Given the description of an element on the screen output the (x, y) to click on. 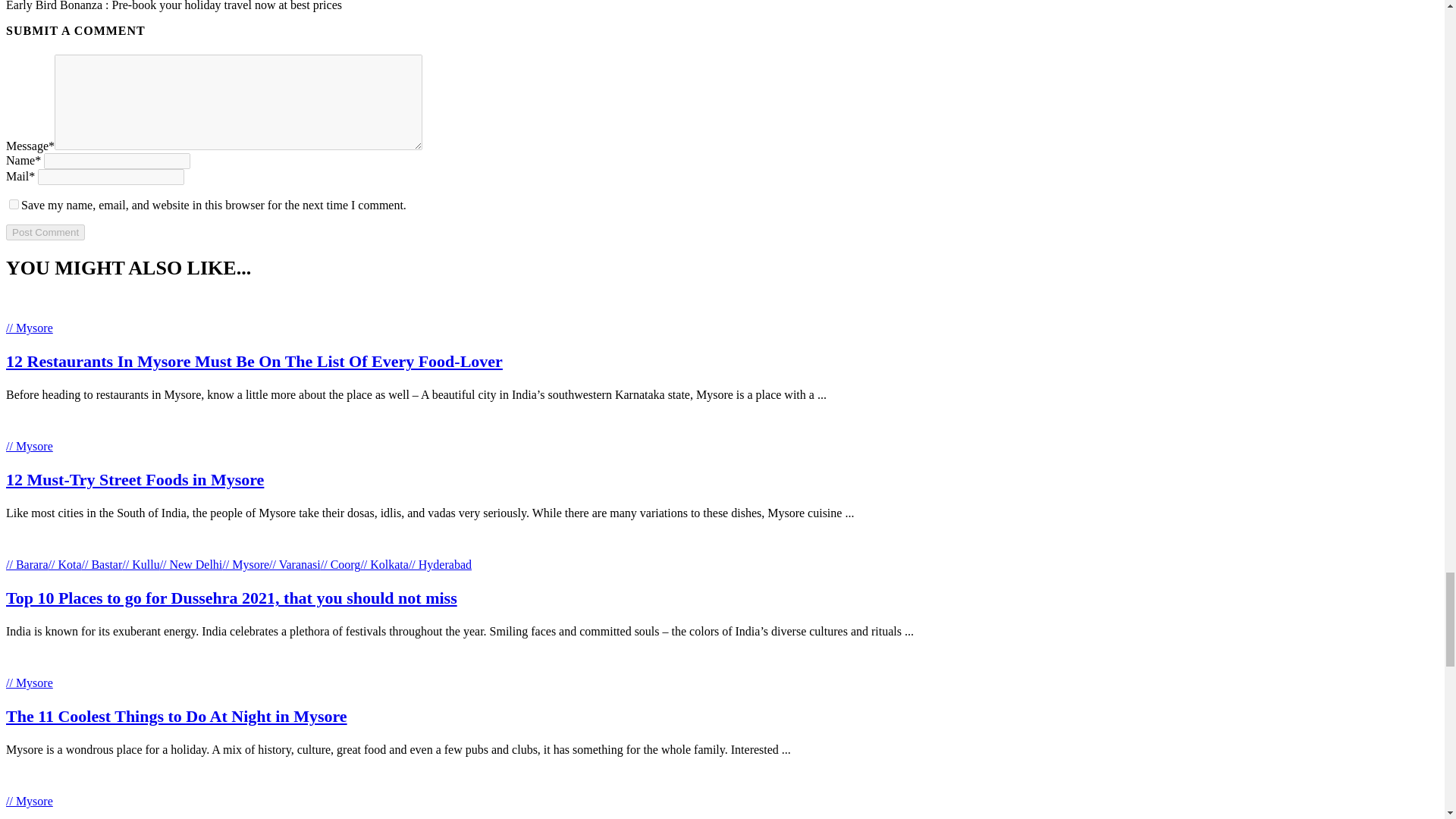
yes (13, 204)
Post Comment (44, 232)
